Given the description of an element on the screen output the (x, y) to click on. 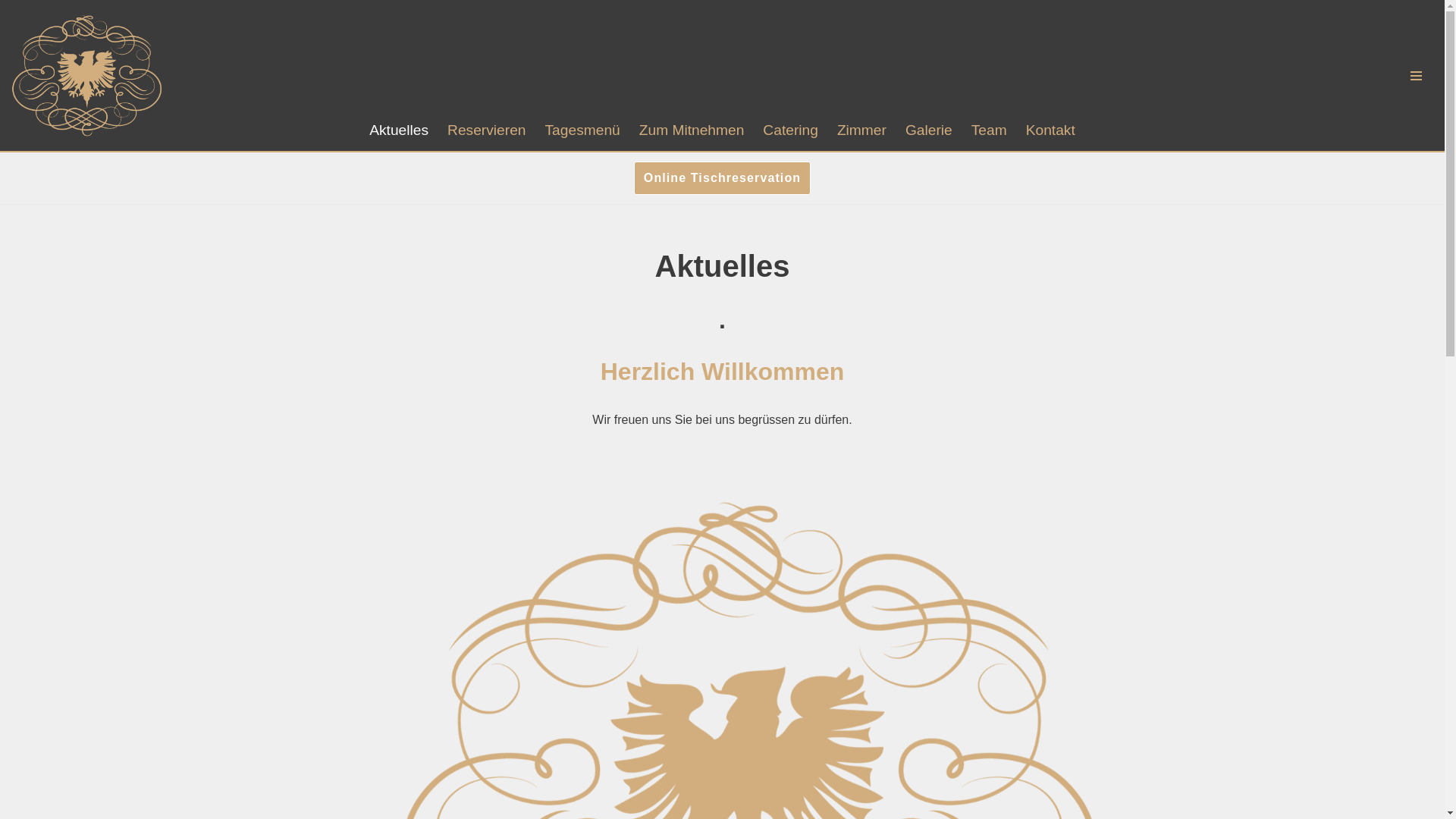
Aktuelles Element type: text (398, 130)
Zum Mitnehmen Element type: text (691, 130)
Catering Element type: text (790, 130)
Kontakt Element type: text (1050, 130)
Reservieren Element type: text (486, 130)
Gasthaus Adler Nebikon Element type: hover (87, 75)
Team Element type: text (989, 130)
Zimmer Element type: text (861, 130)
Online Tischreservation Element type: text (721, 177)
Galerie Element type: text (928, 130)
Zum Inhalt Element type: text (11, 31)
